Given the description of an element on the screen output the (x, y) to click on. 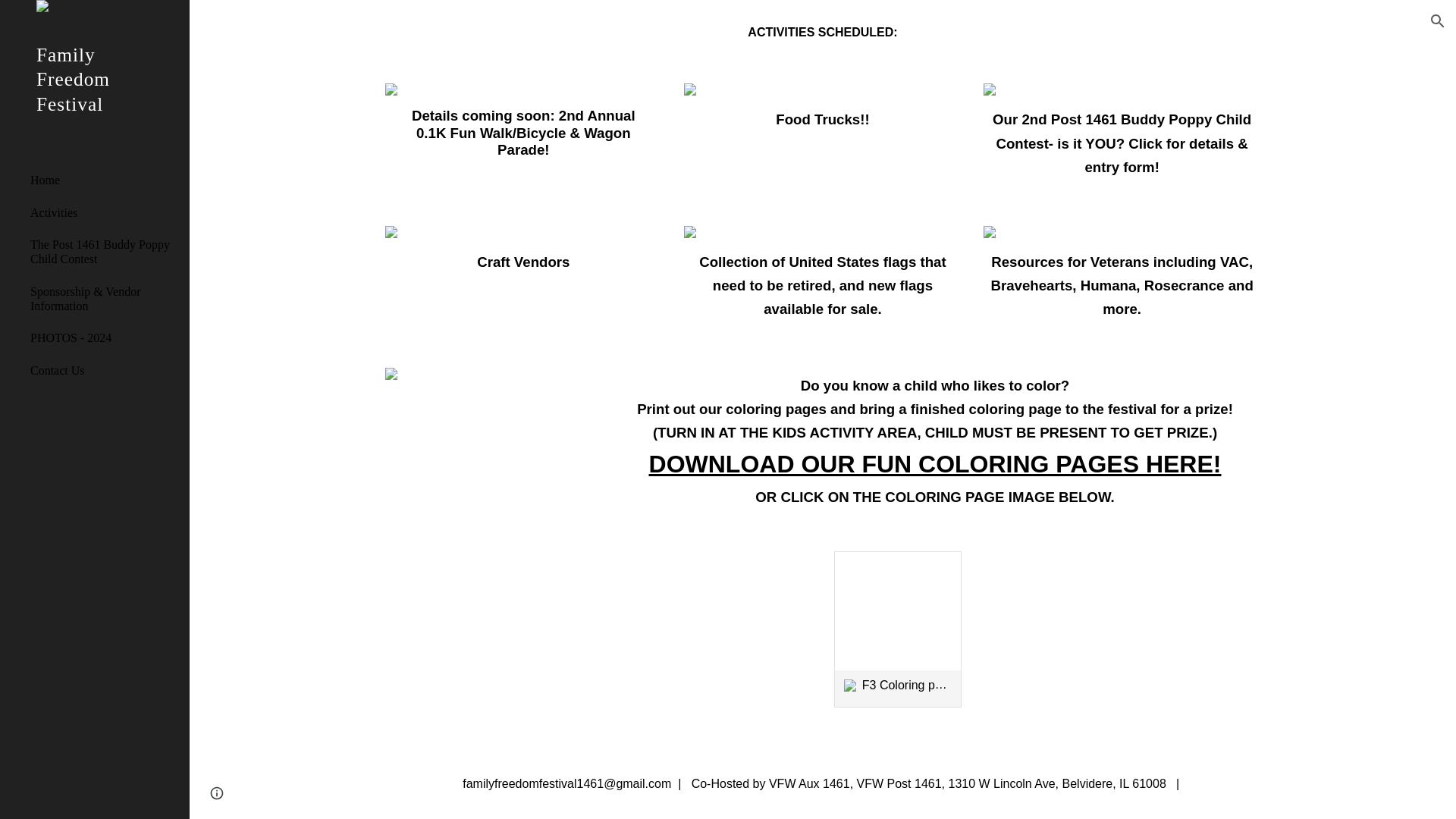
PHOTOS - 2024 (103, 337)
Home (103, 180)
Contact Us (103, 369)
Family Freedom Festival (94, 98)
DOWNLOAD OUR FUN COLORING PAGES HERE! (935, 468)
Activities (103, 212)
The Post 1461 Buddy Poppy Child Contest (103, 251)
